Given the description of an element on the screen output the (x, y) to click on. 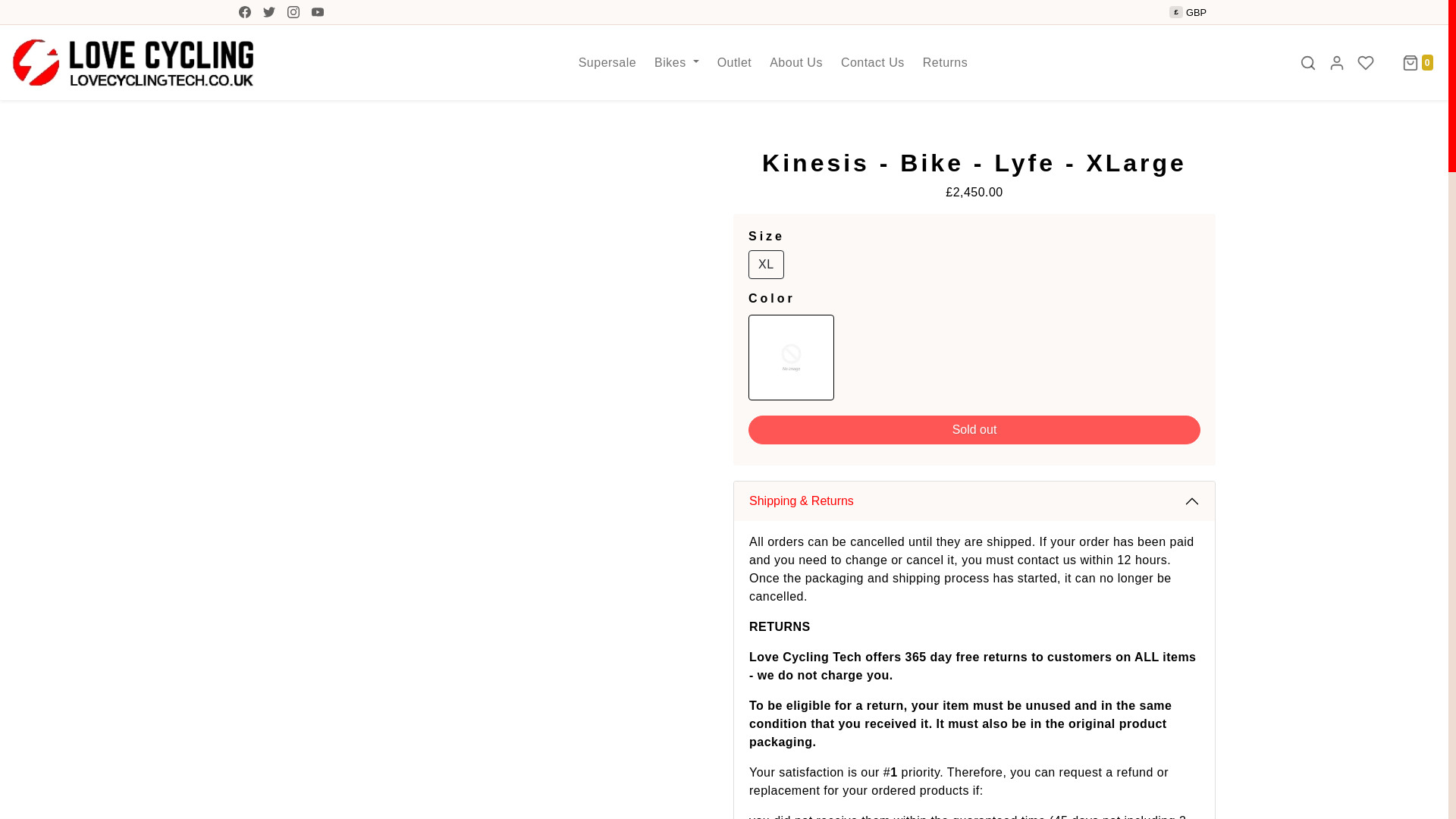
YouTube (317, 12)
Instagram (293, 12)
Bikes (676, 61)
Facebook (244, 12)
Supersale (607, 61)
Twitter (269, 12)
Blue (791, 357)
